Given the description of an element on the screen output the (x, y) to click on. 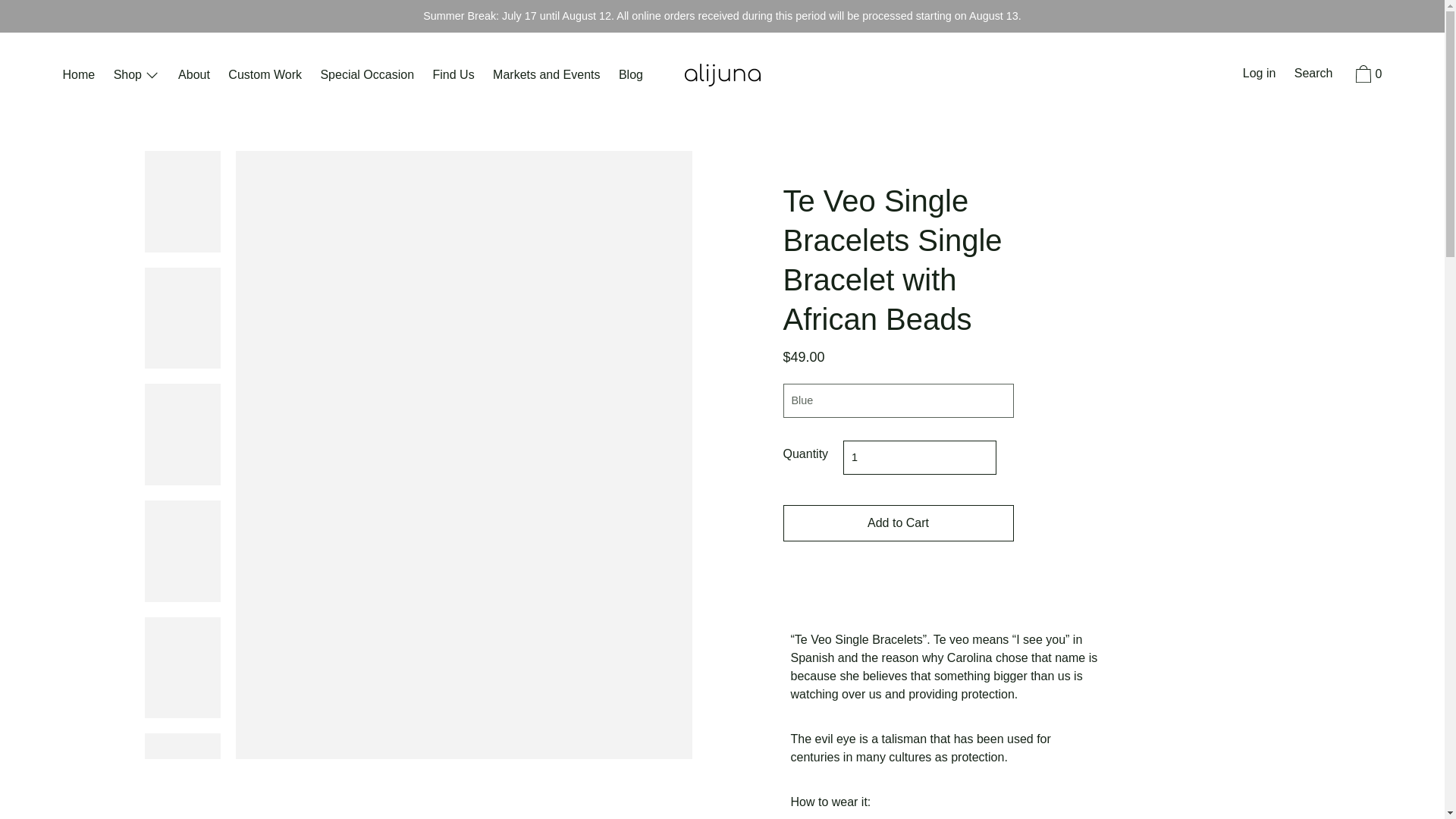
0 (1366, 76)
Special Occasion (367, 76)
1 (919, 457)
Home (78, 76)
Find Us (453, 76)
Markets and Events (545, 76)
Shop (136, 76)
Search (1313, 74)
Custom Work (264, 76)
About (193, 76)
Log in (1259, 74)
Blog (630, 76)
